Given the description of an element on the screen output the (x, y) to click on. 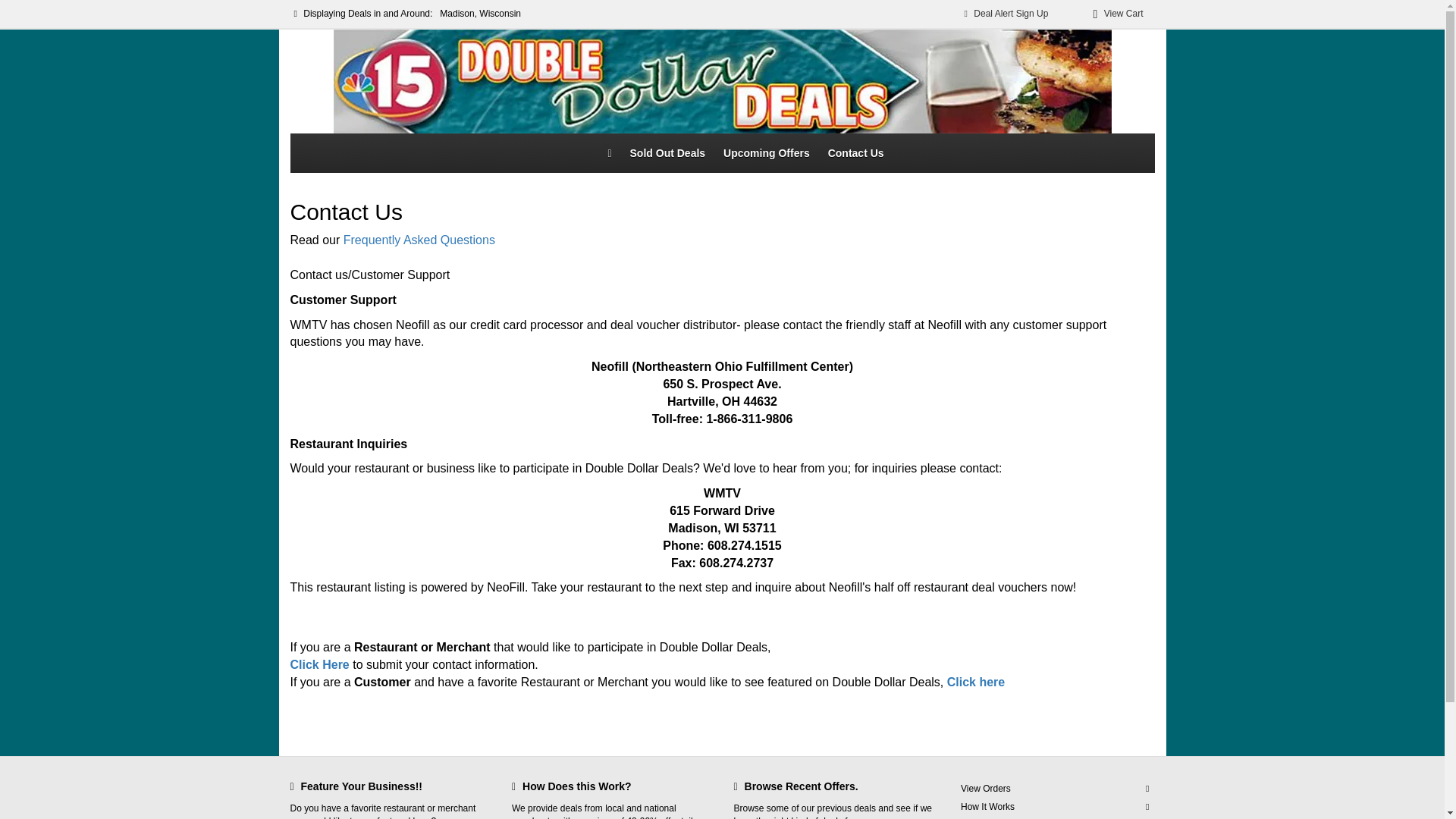
Click here (975, 681)
Sold Out Deals (667, 152)
How It Works (1054, 806)
Deal Alert Sign Up (1006, 13)
Frequently Asked Questions (419, 239)
Upcoming Offers (766, 152)
Contact Us (1054, 817)
Contact Us (855, 152)
Click Here (319, 664)
View Orders (1054, 788)
